Given the description of an element on the screen output the (x, y) to click on. 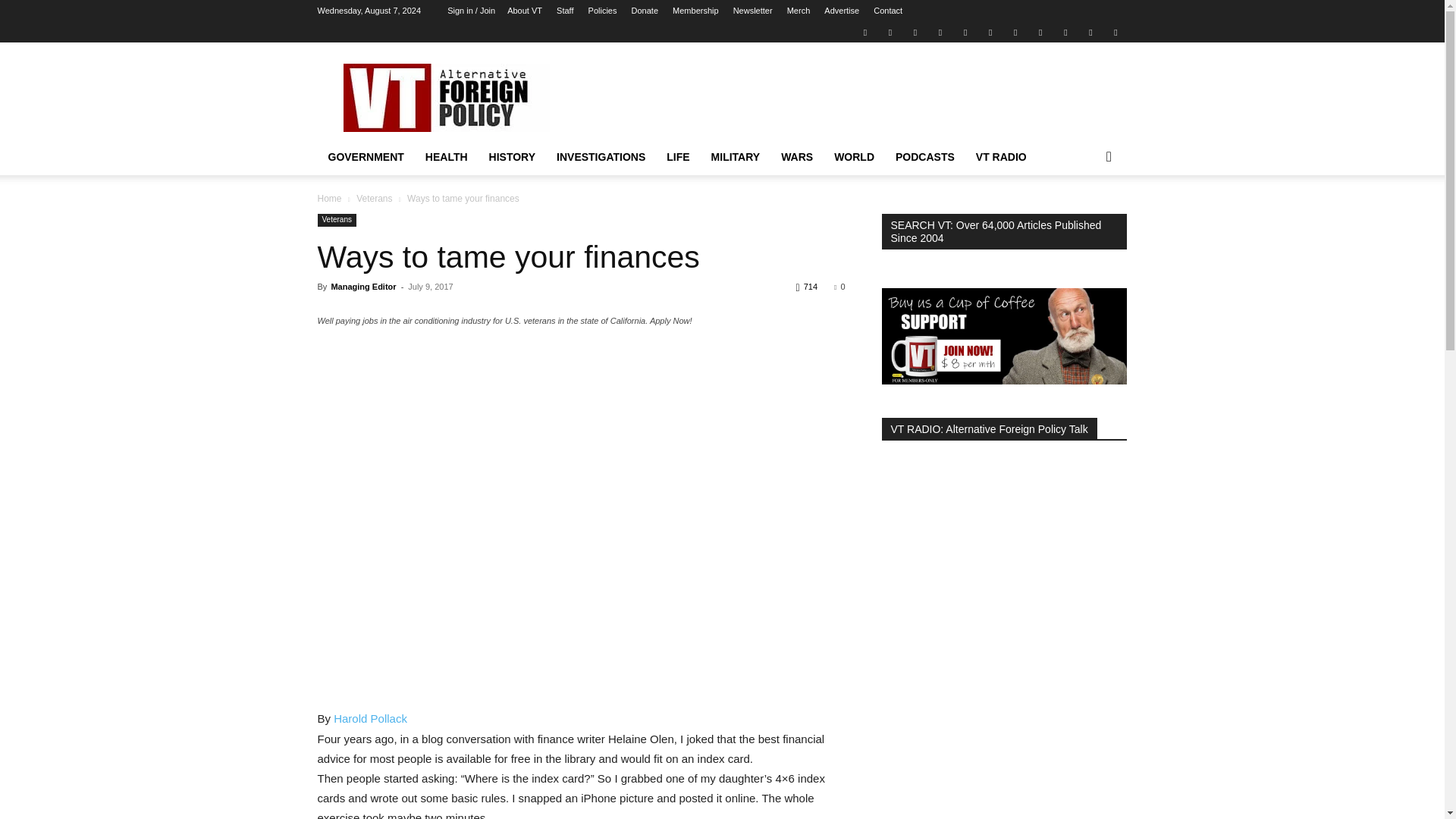
Rumble (964, 31)
Facebook (890, 31)
Membership (695, 10)
Merch (798, 10)
Blogger (864, 31)
Reddit (940, 31)
Mail (915, 31)
Donate (644, 10)
About VT (523, 10)
Staff (564, 10)
